Given the description of an element on the screen output the (x, y) to click on. 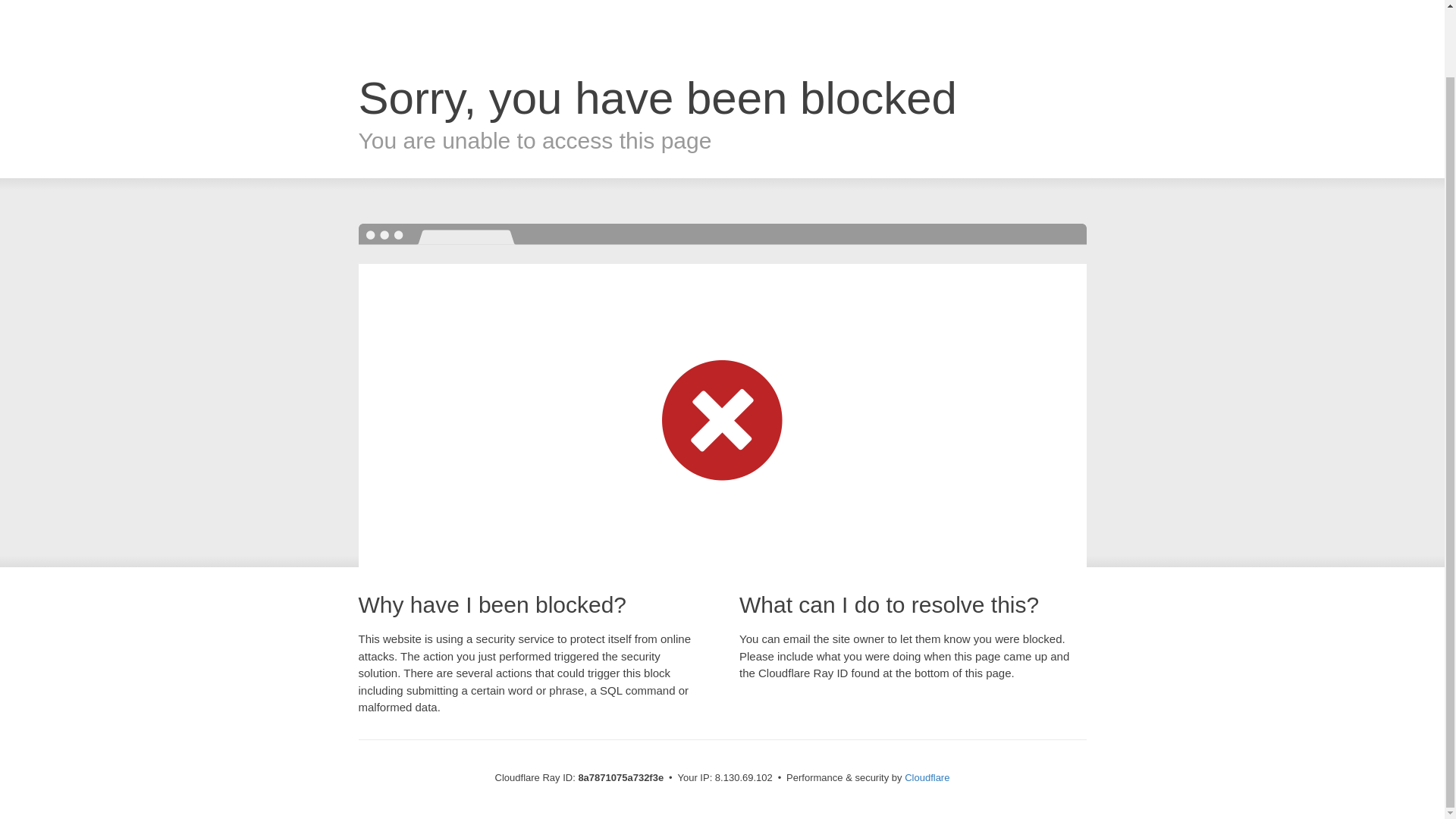
Cloudflare (926, 777)
